Given the description of an element on the screen output the (x, y) to click on. 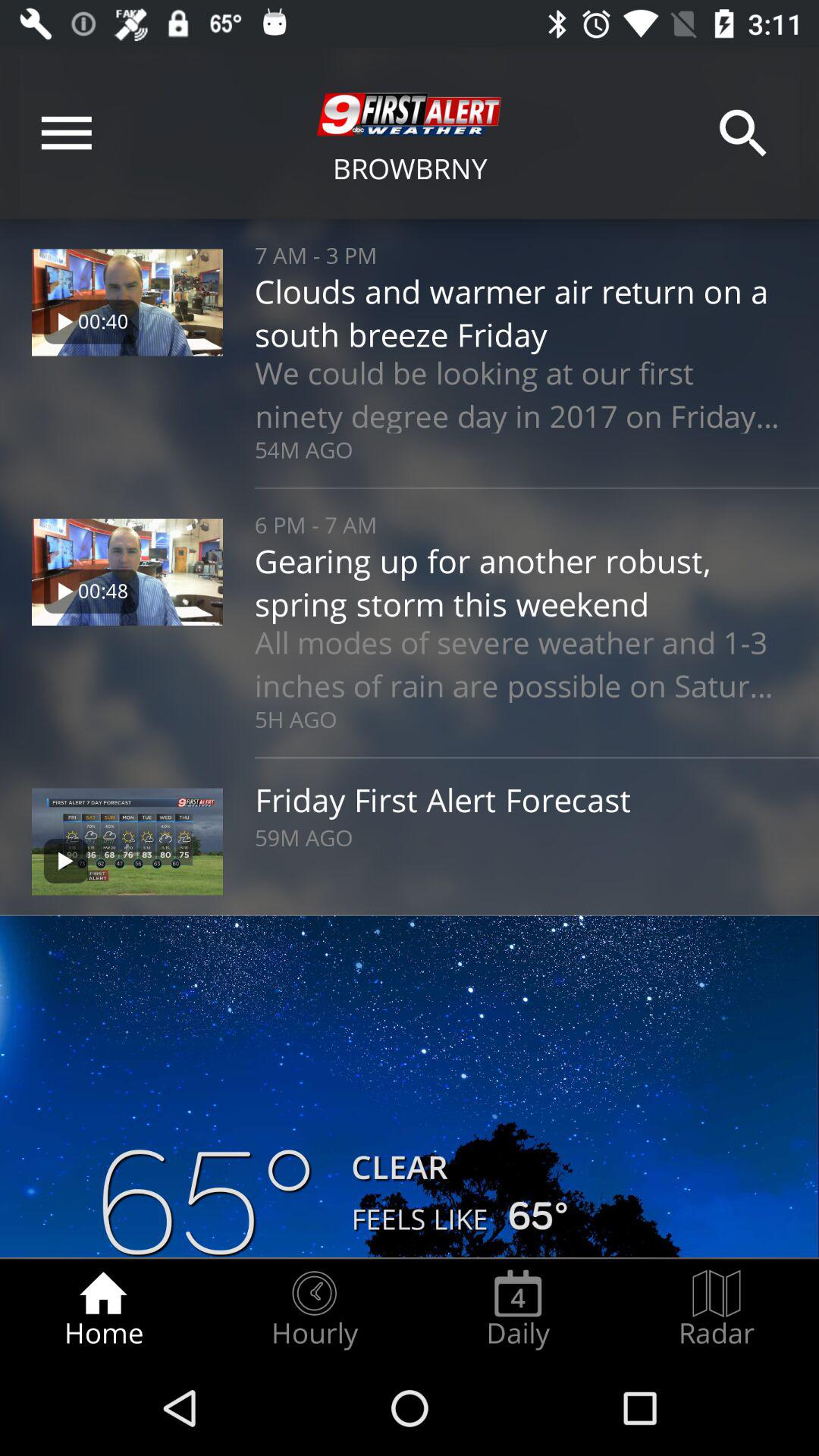
click radar radio button (716, 1309)
